Given the description of an element on the screen output the (x, y) to click on. 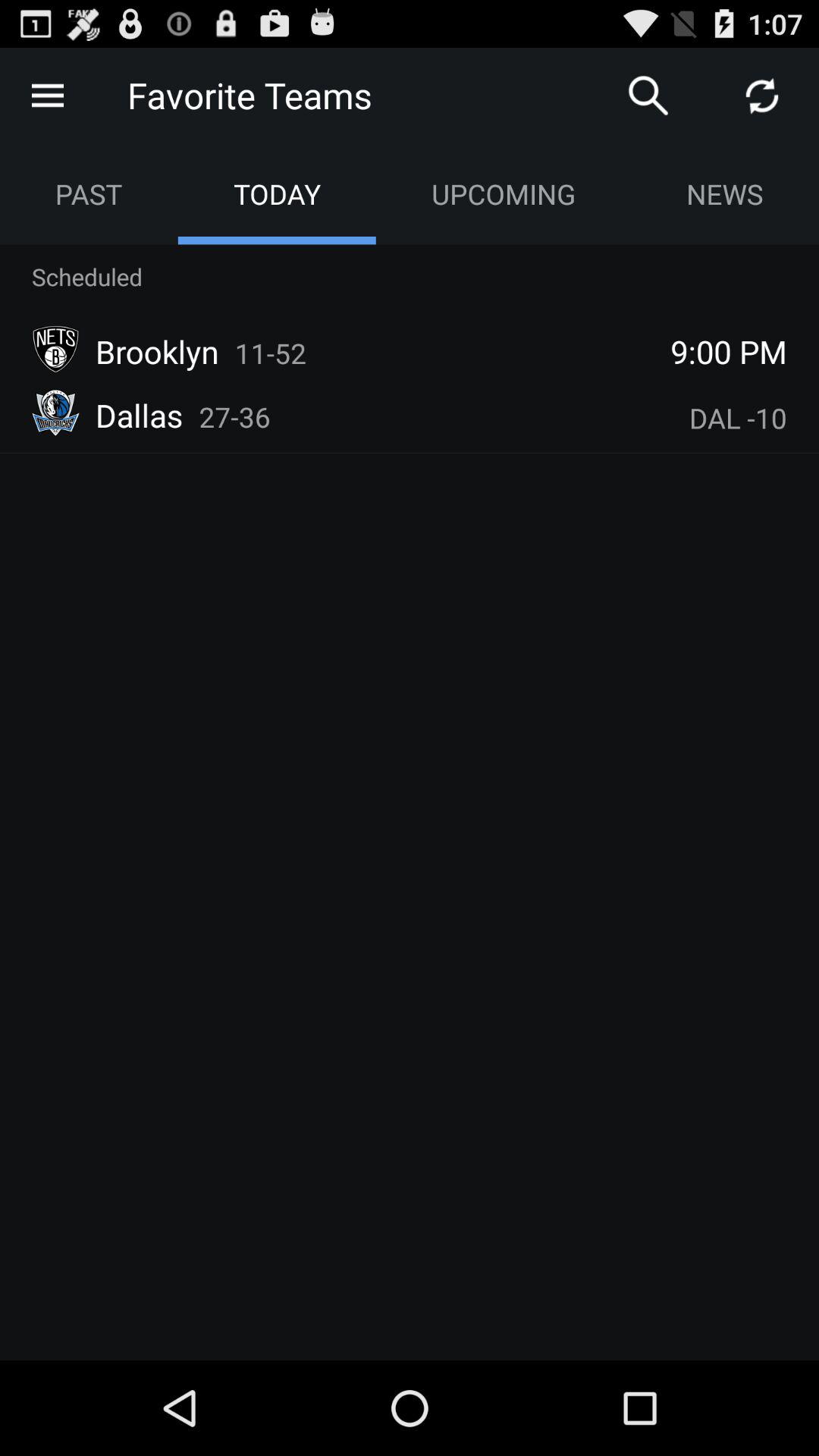
go to the menu (47, 95)
